Given the description of an element on the screen output the (x, y) to click on. 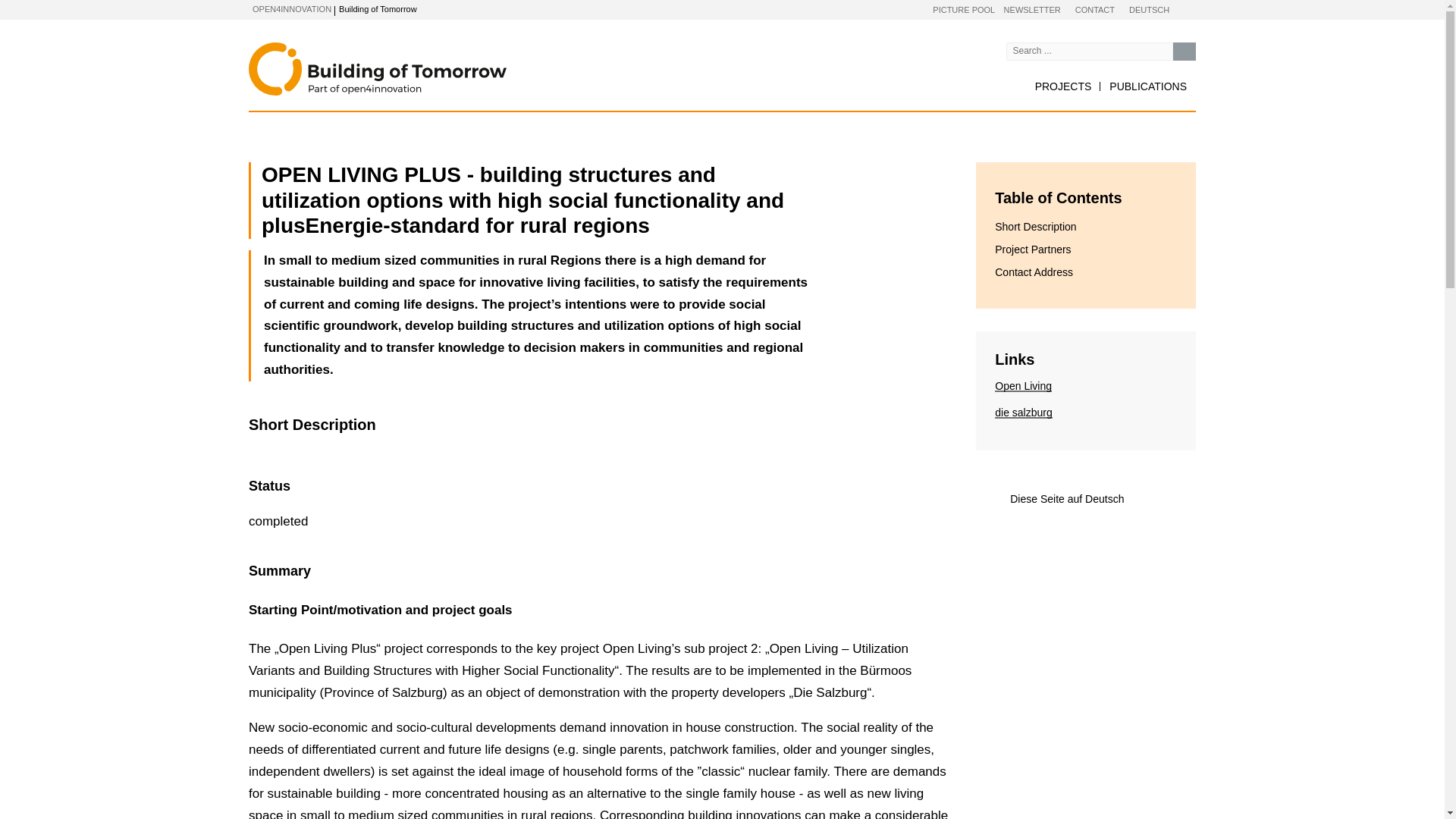
NEWSLETTER (1032, 10)
PROJECTS (1063, 86)
PUBLICATIONS (1147, 86)
Show (362, 10)
OPEN4INNOVATION (291, 9)
DEUTSCH (1149, 10)
PICTURE POOL (963, 10)
Search ... (1184, 51)
CONTACT (1095, 10)
